Given the description of an element on the screen output the (x, y) to click on. 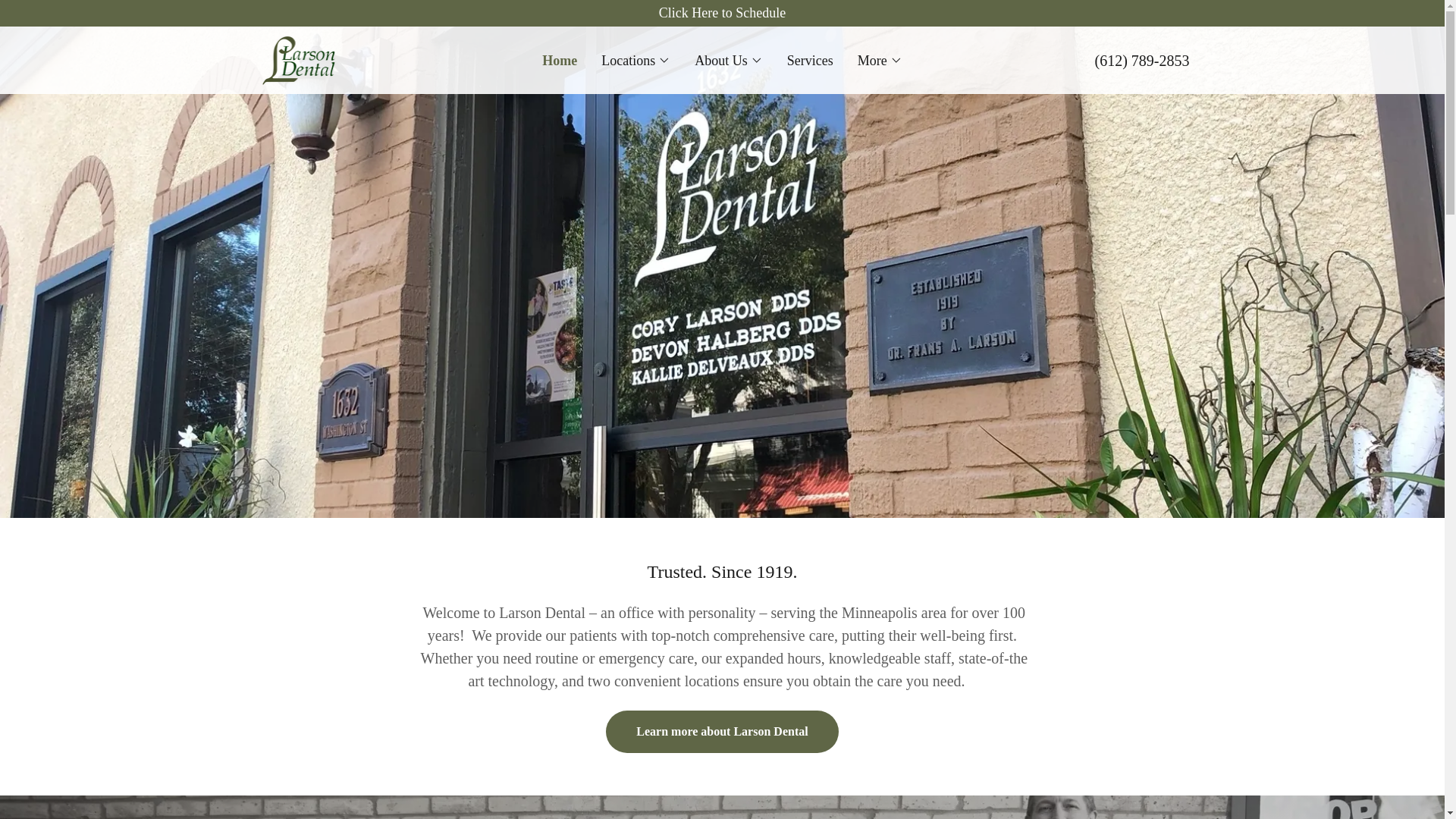
Locations (635, 60)
About Us (728, 60)
Larson Dental (298, 58)
Home (558, 60)
More (879, 60)
Services (810, 60)
